Given the description of an element on the screen output the (x, y) to click on. 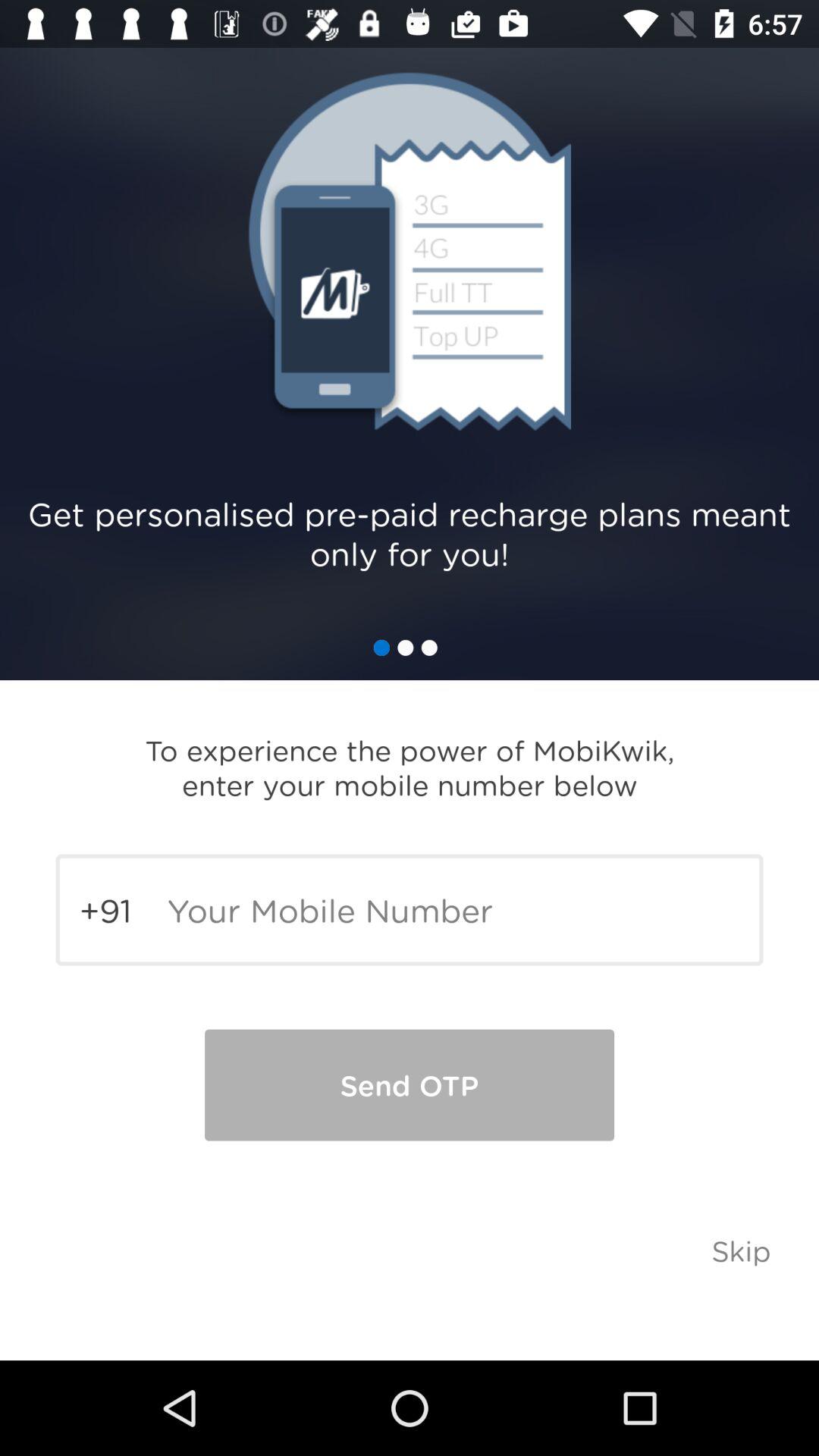
enter the mobile number (409, 909)
